Given the description of an element on the screen output the (x, y) to click on. 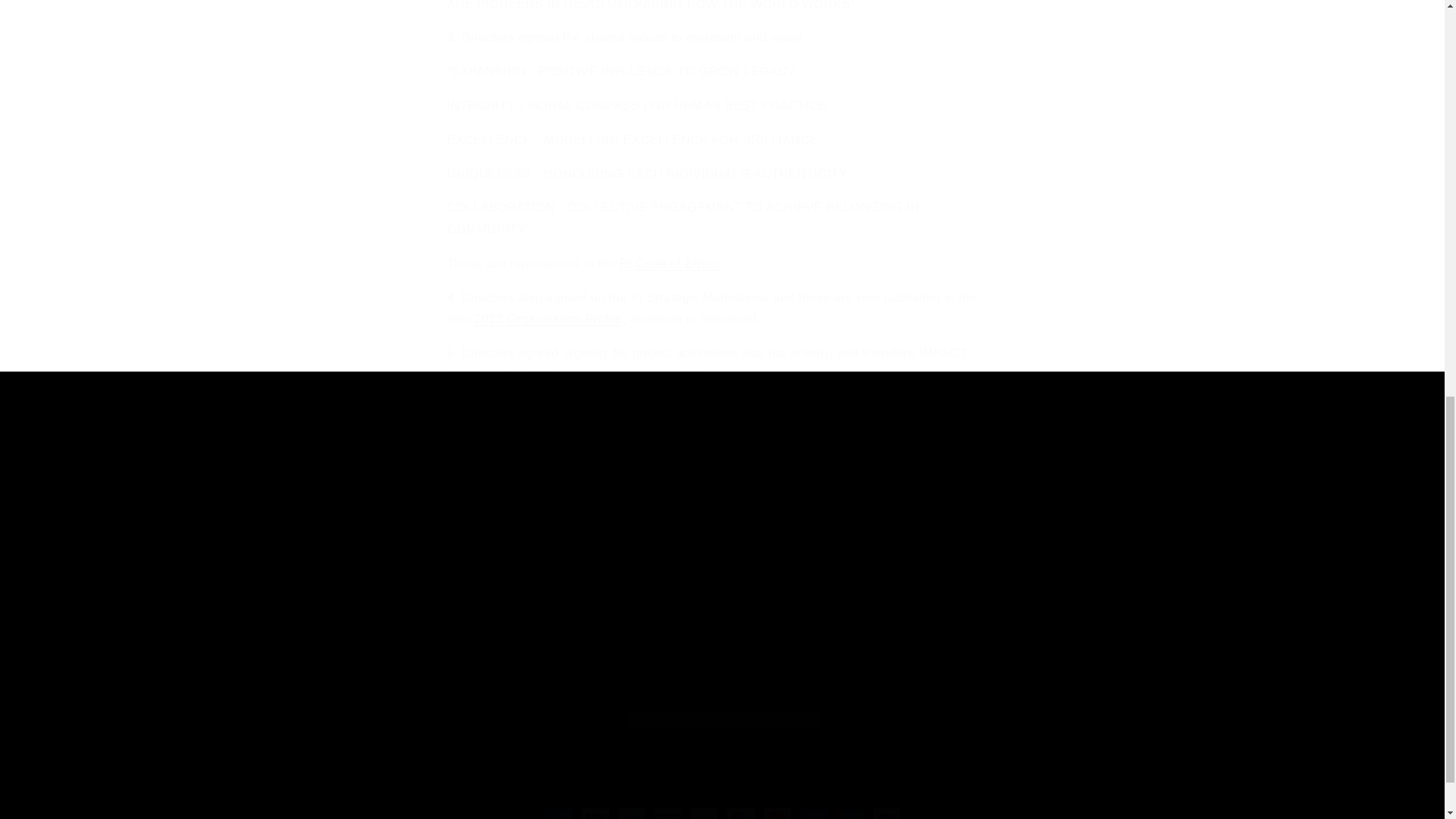
Purposeful Innovators 2022 Organisation Profile (548, 318)
Purposeful Innovators Code of Ethics (670, 263)
